Given the description of an element on the screen output the (x, y) to click on. 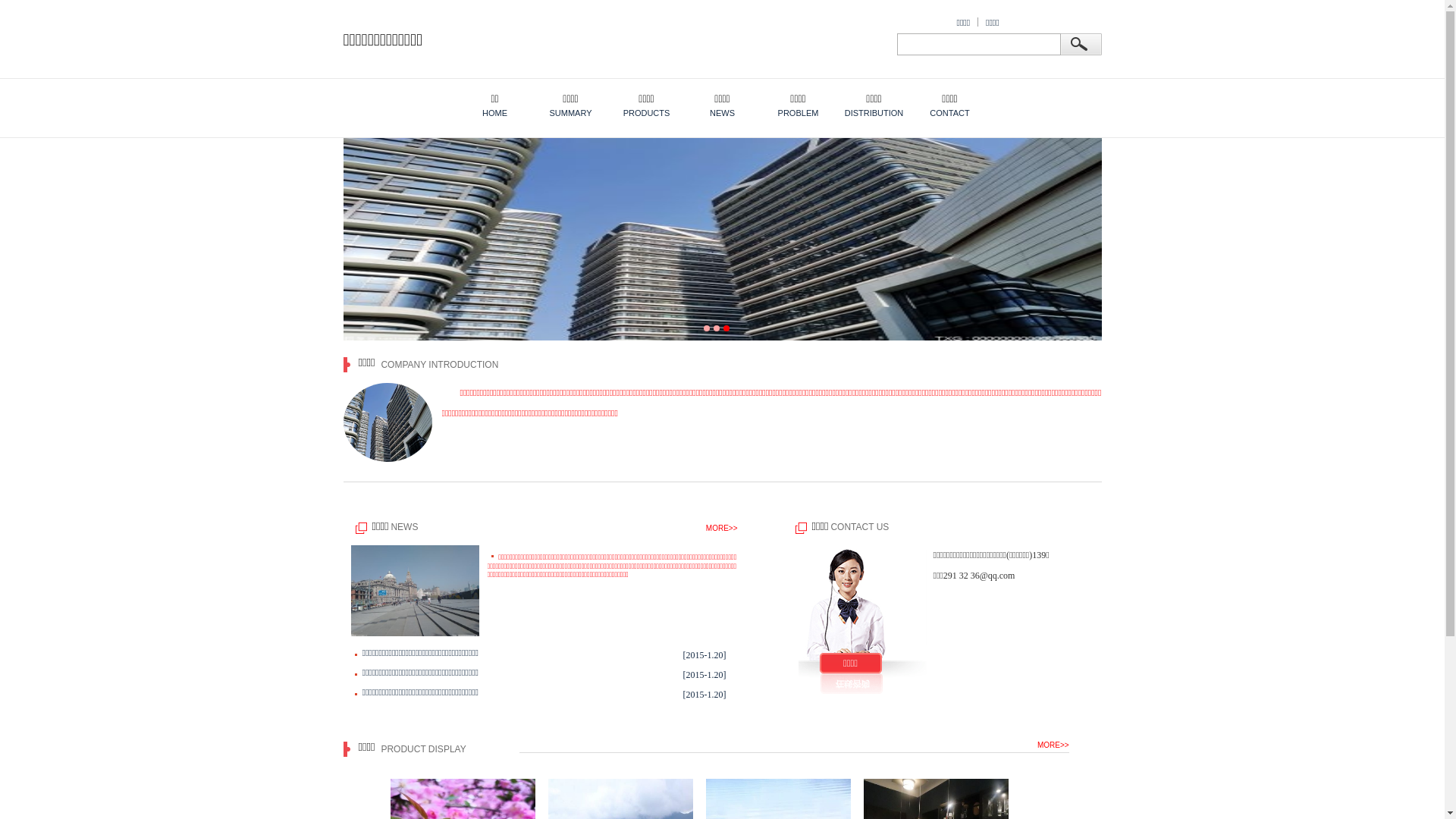
MORE>> Element type: text (721, 526)
CONTACT US Element type: text (859, 526)
NEWS Element type: text (721, 85)
SUMMARY Element type: text (570, 85)
PROBLEM Element type: text (797, 85)
CONTACT Element type: text (949, 85)
HOME Element type: text (494, 85)
MORE>> Element type: text (1053, 744)
NEWS Element type: text (403, 526)
DISTRIBUTION Element type: text (873, 85)
PRODUCTS Element type: text (646, 85)
